Given the description of an element on the screen output the (x, y) to click on. 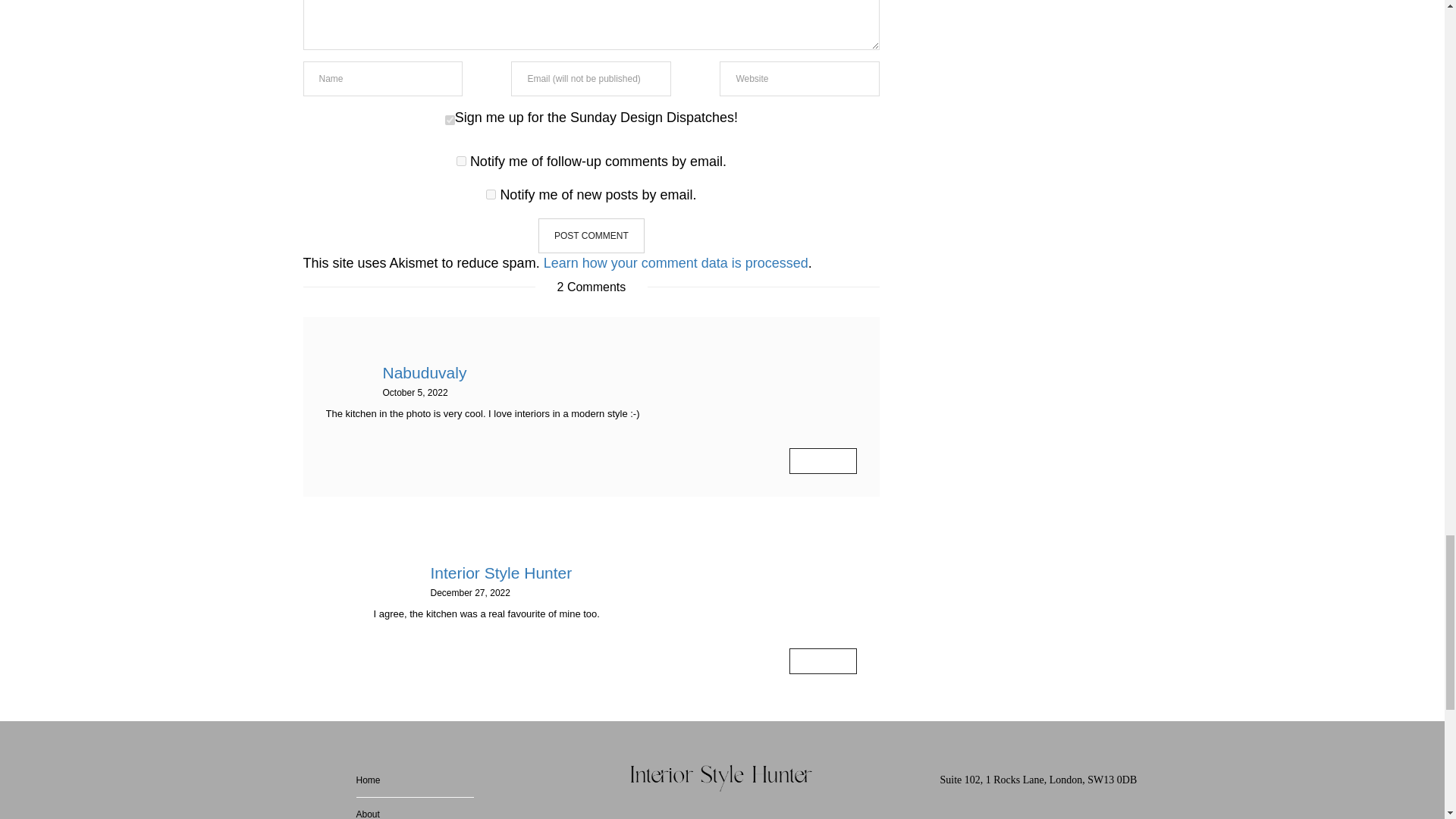
subscribe (491, 194)
1 (449, 120)
Post comment (591, 235)
subscribe (461, 161)
